Given the description of an element on the screen output the (x, y) to click on. 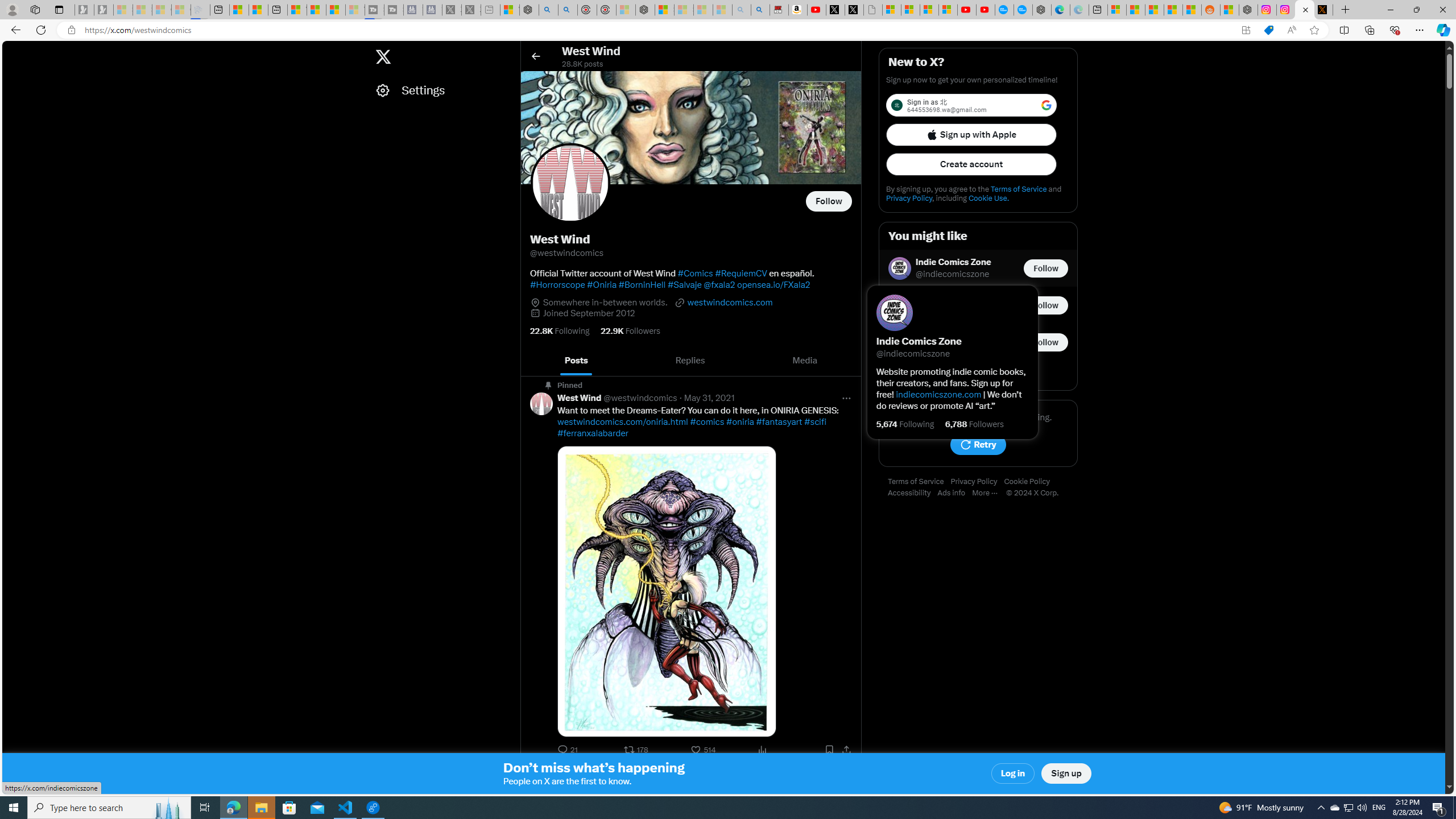
Follow @indiecomicszone (1045, 267)
Cookie Policy (1030, 481)
Previous (532, 360)
514 Likes. Like (703, 749)
westwindcomics.com/oniria.html (622, 421)
#Horrorscope (557, 284)
